Given the description of an element on the screen output the (x, y) to click on. 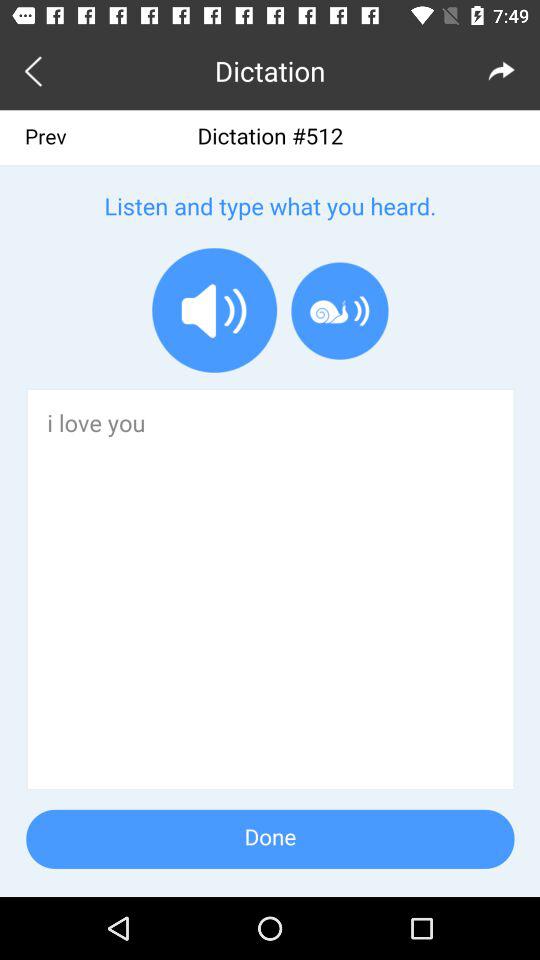
preview button (36, 70)
